Given the description of an element on the screen output the (x, y) to click on. 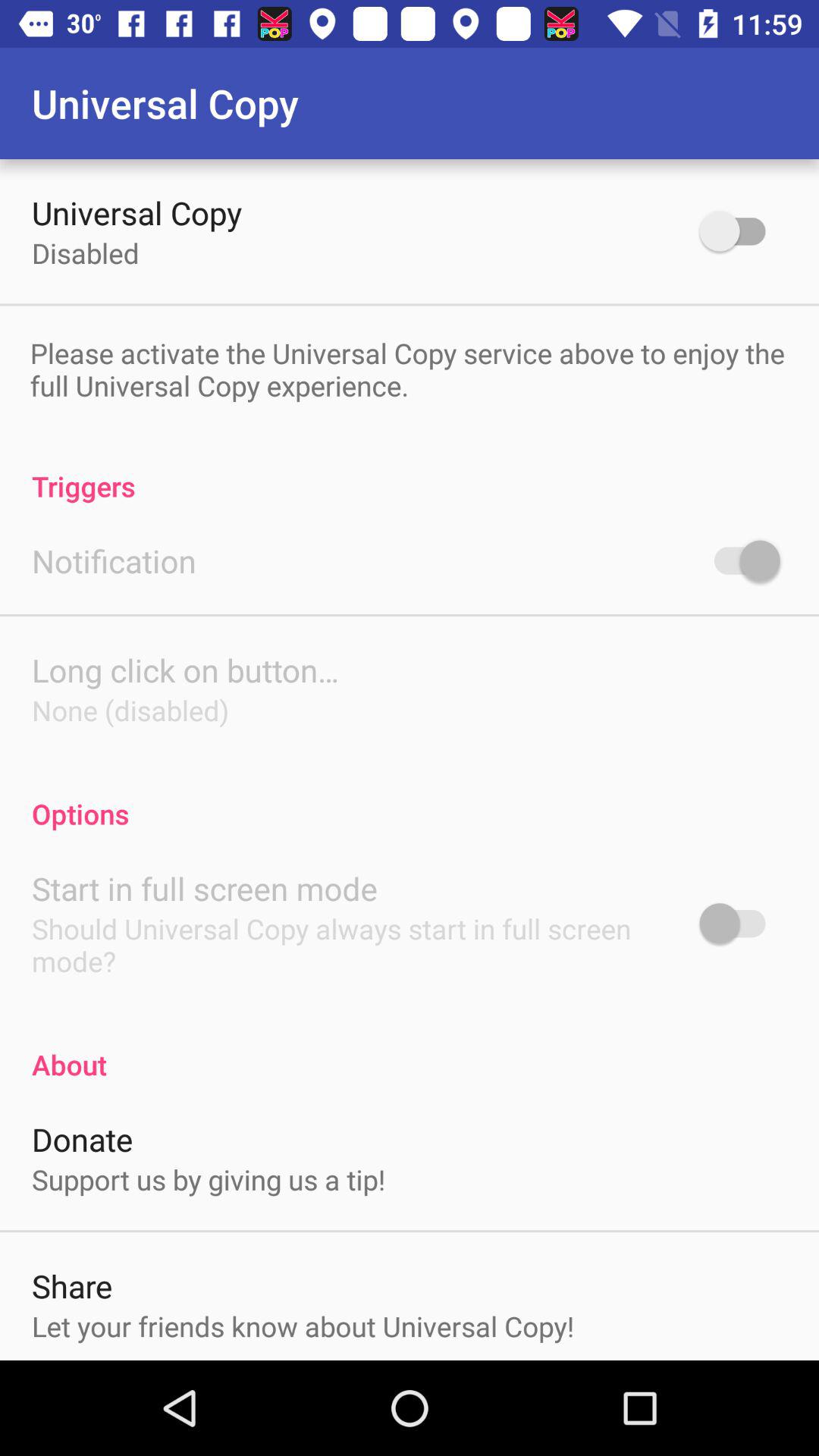
toggle autostart in full screen mode (739, 923)
